Given the description of an element on the screen output the (x, y) to click on. 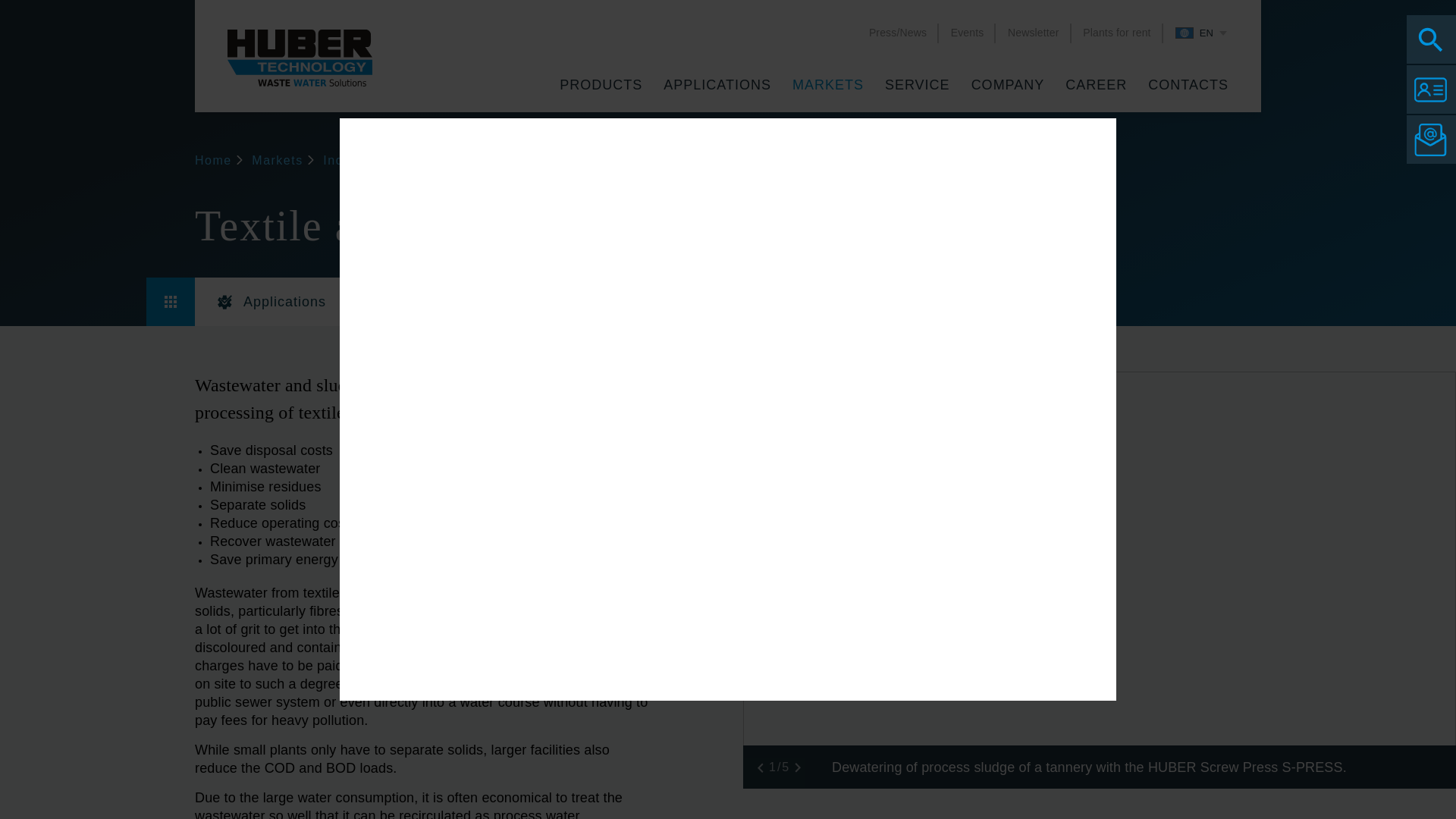
EN (1200, 32)
PRODUCTS (600, 88)
Applications (272, 301)
Case Studies (432, 301)
Plant technology for rental (1116, 32)
Downloads (589, 301)
Events (967, 32)
Events (967, 32)
Plants for rent (1116, 32)
Products (600, 88)
